Given the description of an element on the screen output the (x, y) to click on. 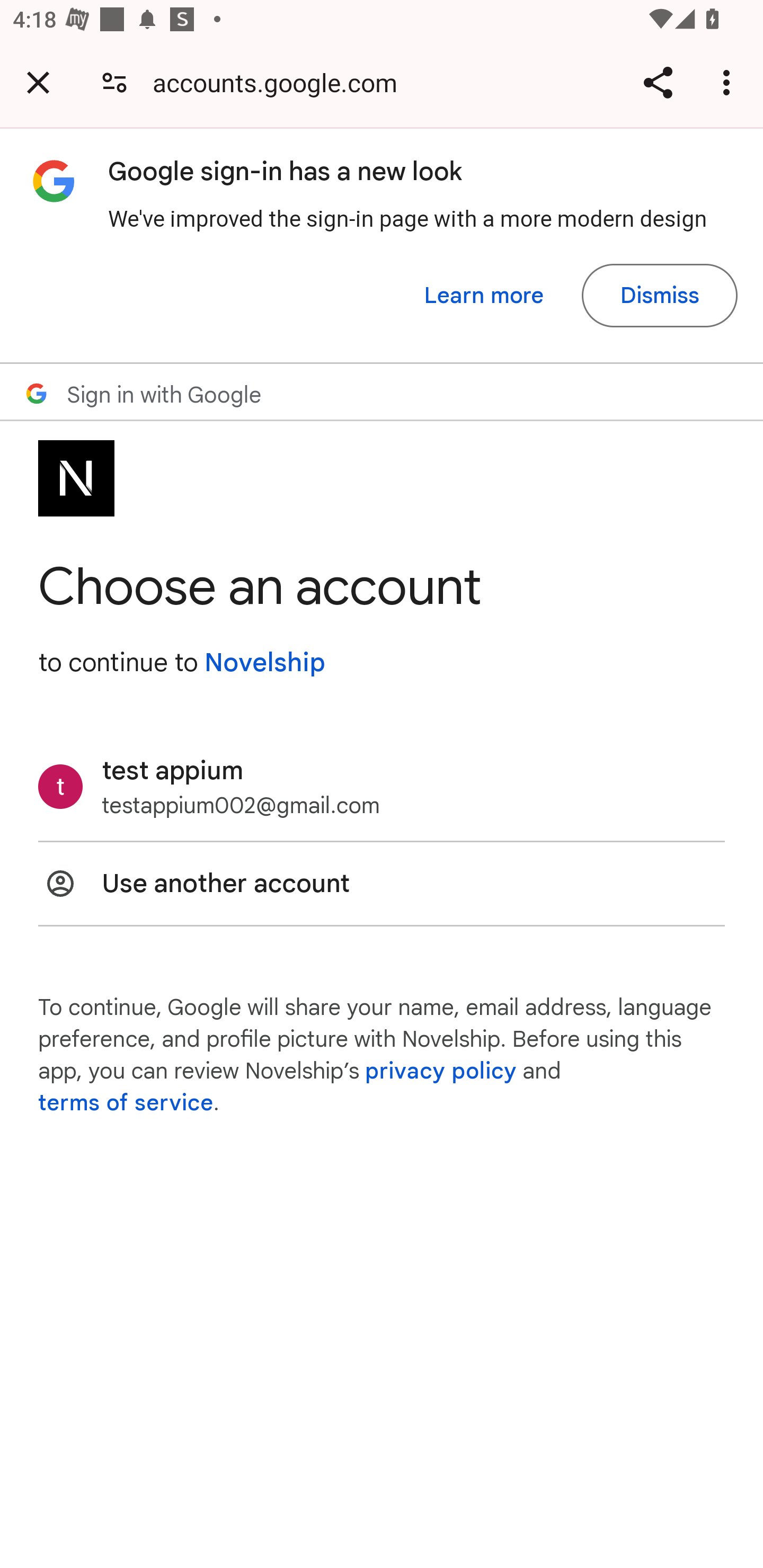
Close tab (38, 82)
Share (657, 82)
Customize and control Google Chrome (729, 82)
Connection is secure (114, 81)
accounts.google.com (281, 81)
Learn more (483, 295)
Dismiss (659, 295)
Novelship (264, 662)
Use another account (381, 883)
privacy policy (440, 1070)
terms of service (126, 1102)
